Given the description of an element on the screen output the (x, y) to click on. 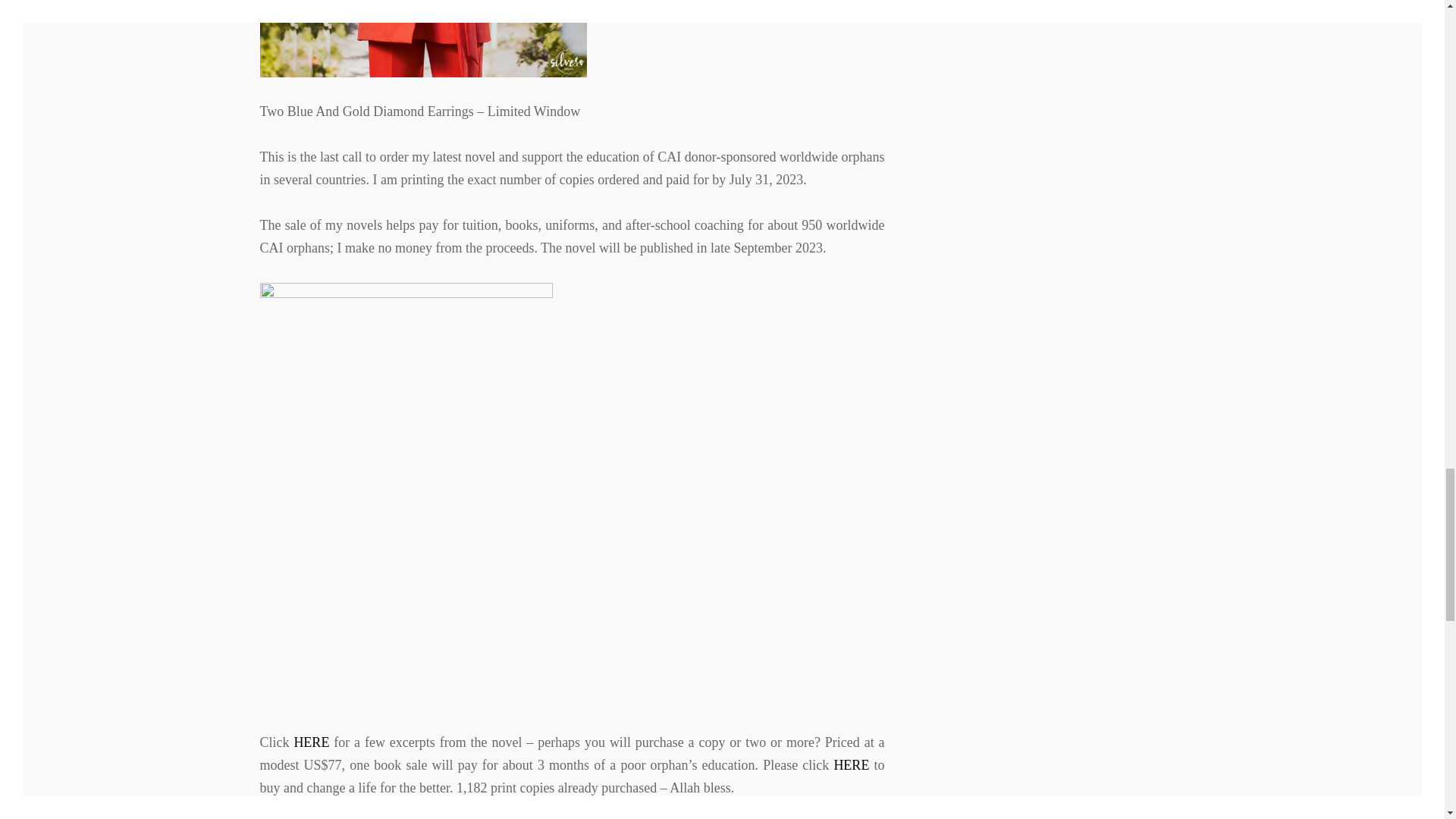
HERE (850, 765)
HERE (311, 742)
